Given the description of an element on the screen output the (x, y) to click on. 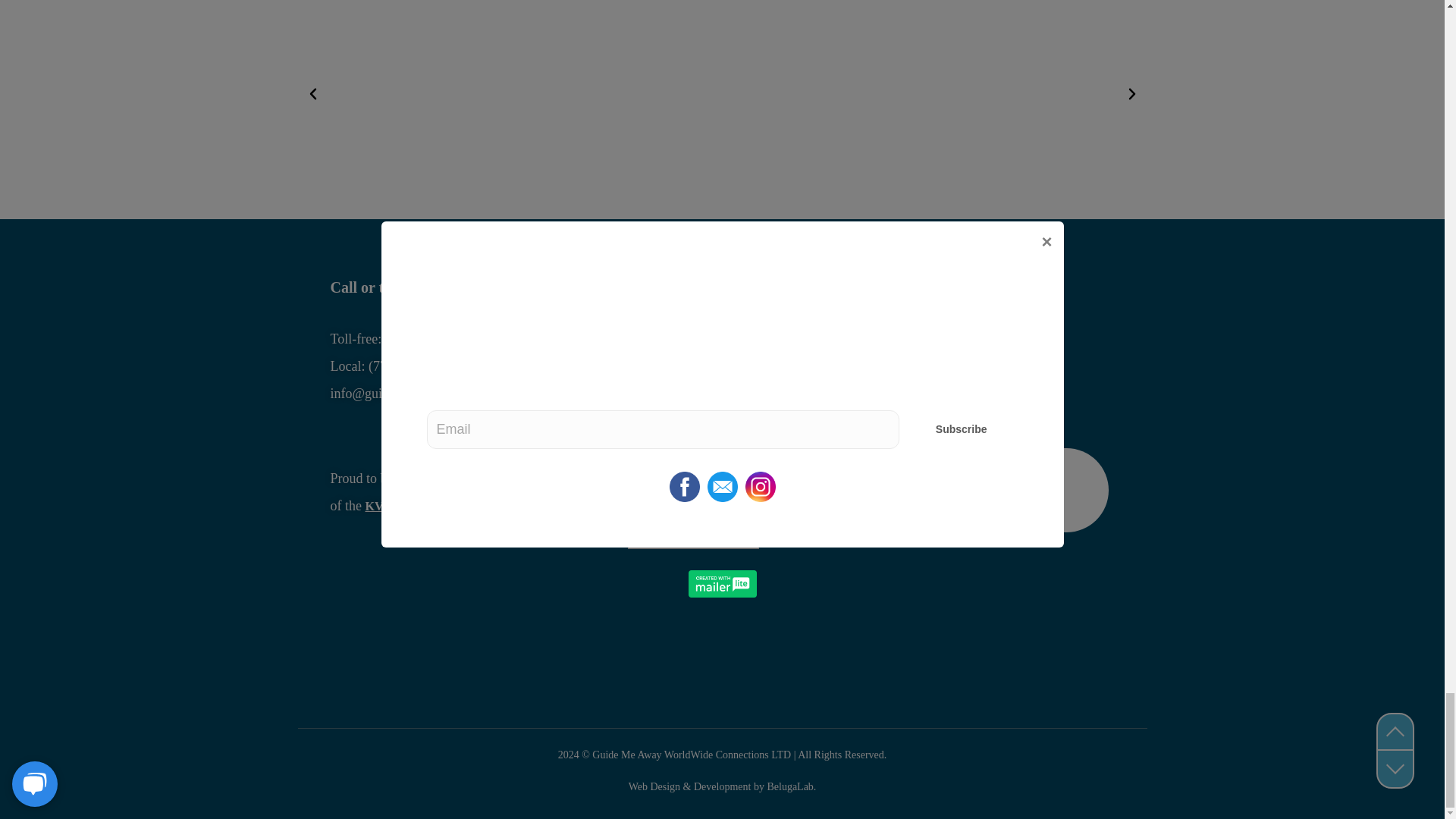
Web Design Company NY (689, 786)
